Given the description of an element on the screen output the (x, y) to click on. 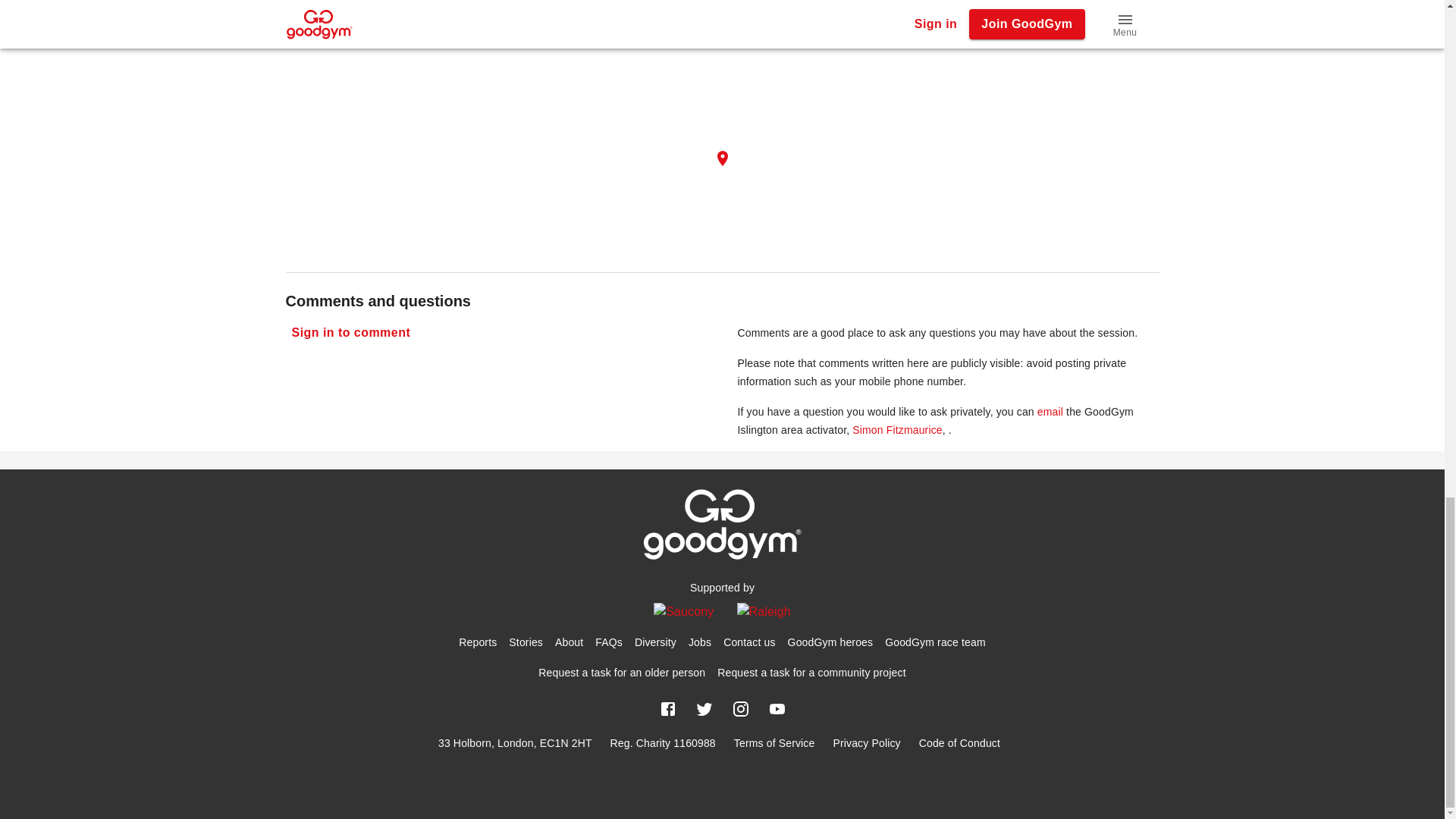
Simon Fitzmaurice (896, 429)
Get directions (326, 2)
Sign in to comment (350, 332)
email (1049, 411)
